Given the description of an element on the screen output the (x, y) to click on. 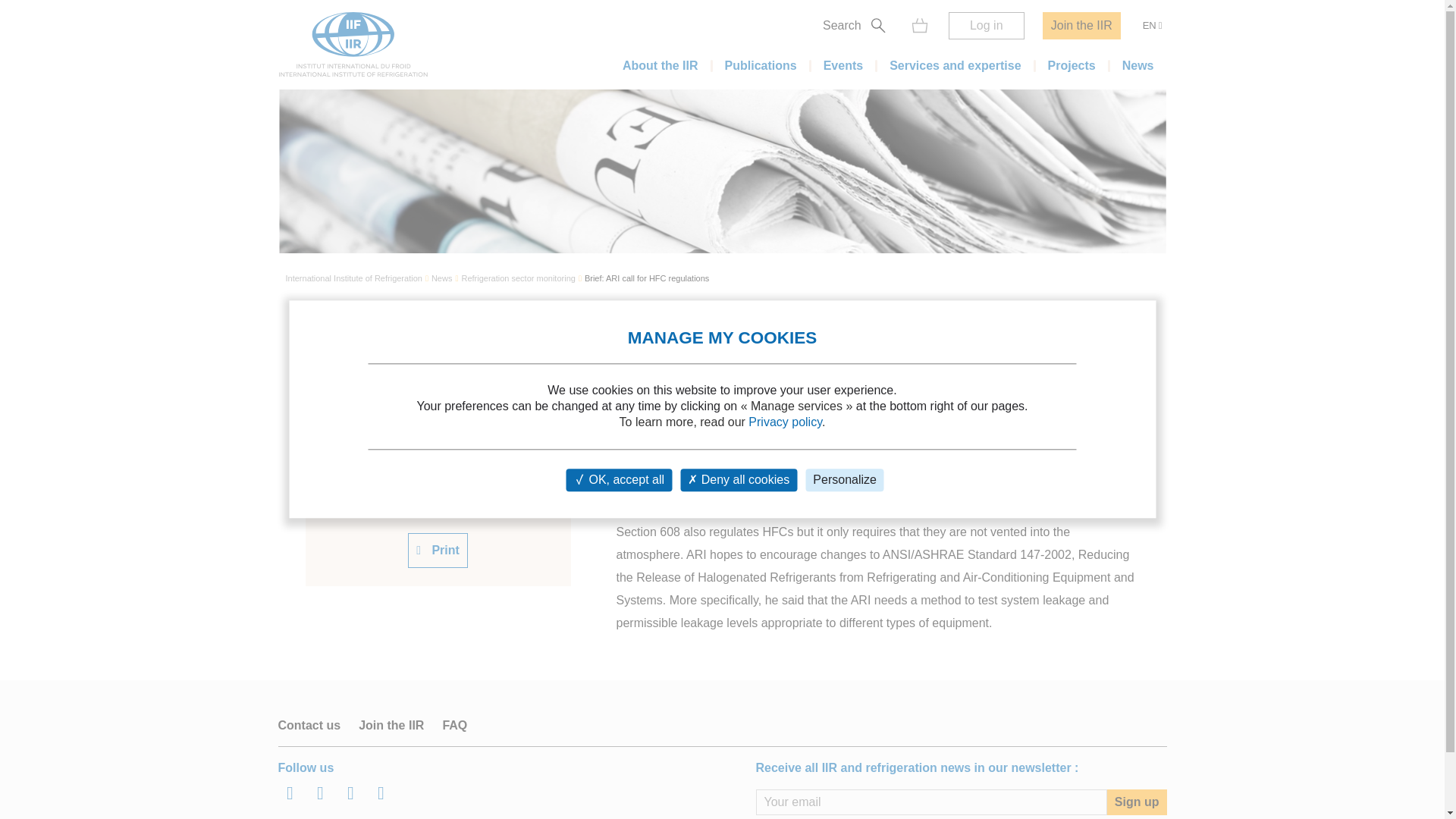
Search (856, 25)
International Institute of Refrigeration (353, 278)
EN (1152, 25)
Sign up (1136, 801)
Join the IIR (1081, 25)
Search (1091, 44)
